Given the description of an element on the screen output the (x, y) to click on. 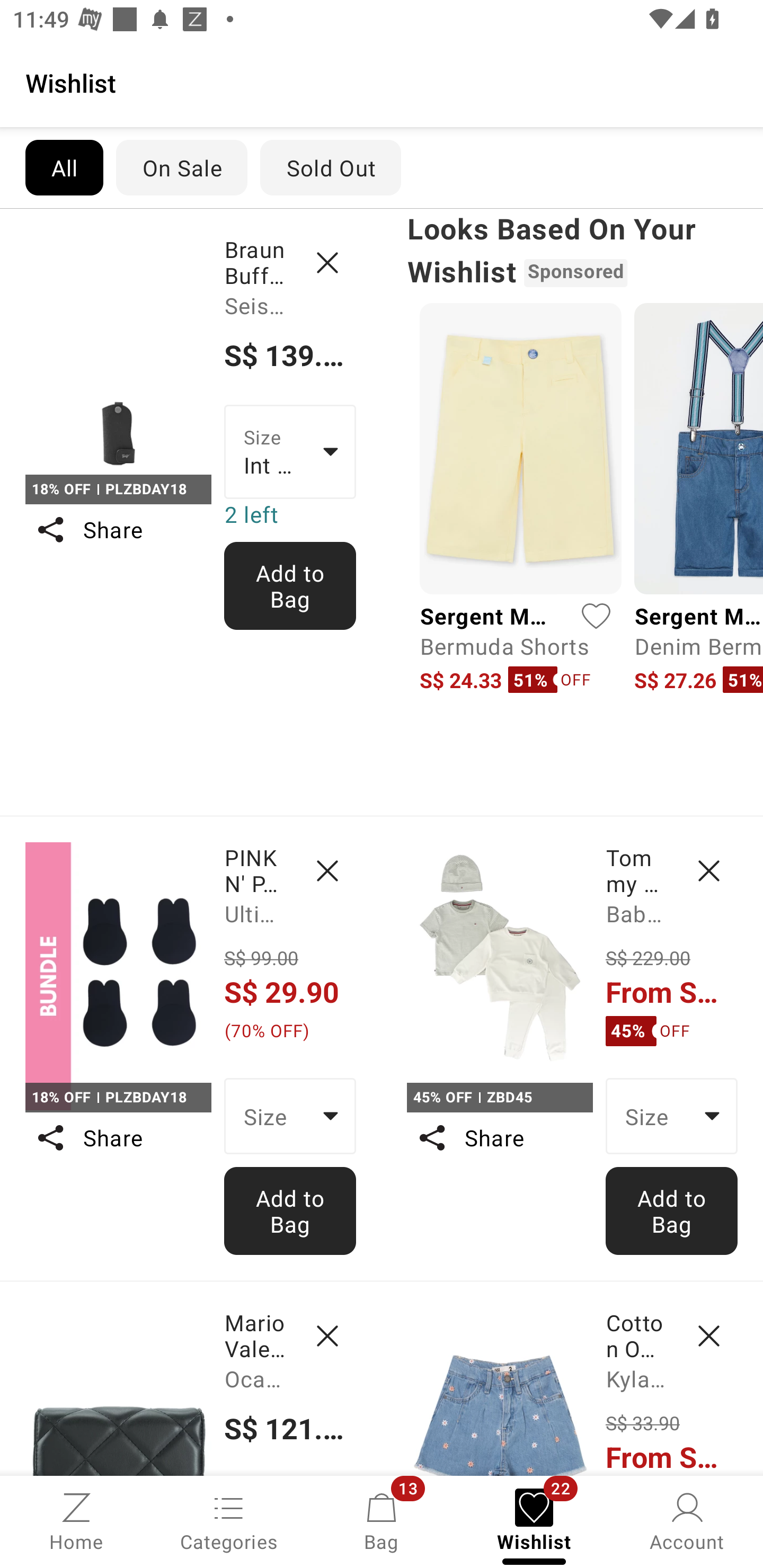
Wishlist (381, 82)
All (64, 167)
On Sale (181, 167)
Sold Out (330, 167)
Size Int One Size (290, 451)
Share (118, 529)
Add to Bag (290, 586)
Size (290, 1116)
Size (671, 1116)
Share (118, 1137)
Share (499, 1137)
Add to Bag (290, 1210)
Add to Bag (671, 1210)
Home (76, 1519)
Categories (228, 1519)
Bag, 13 new notifications Bag (381, 1519)
Account (686, 1519)
